Given the description of an element on the screen output the (x, y) to click on. 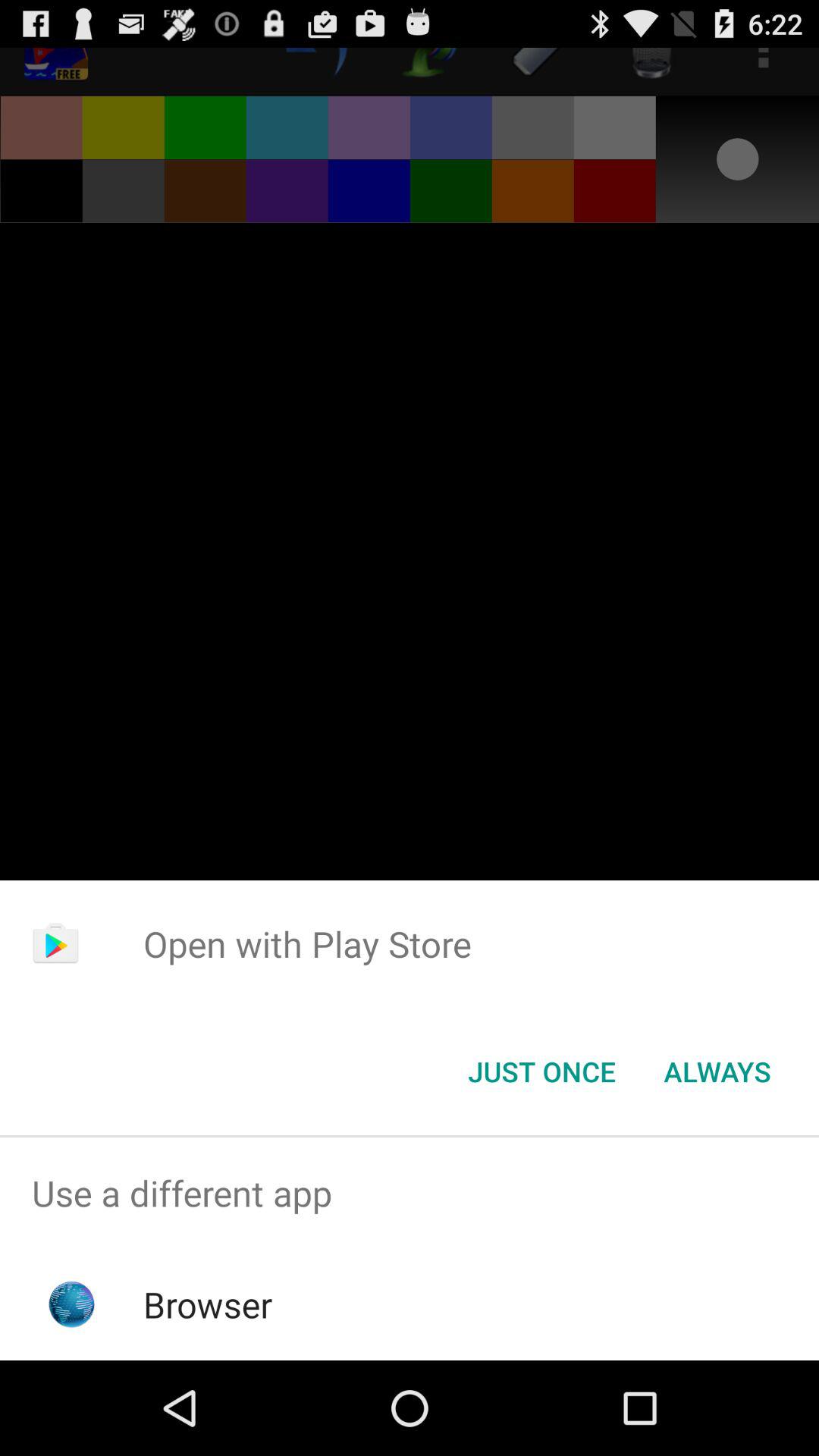
turn on the just once item (541, 1071)
